Given the description of an element on the screen output the (x, y) to click on. 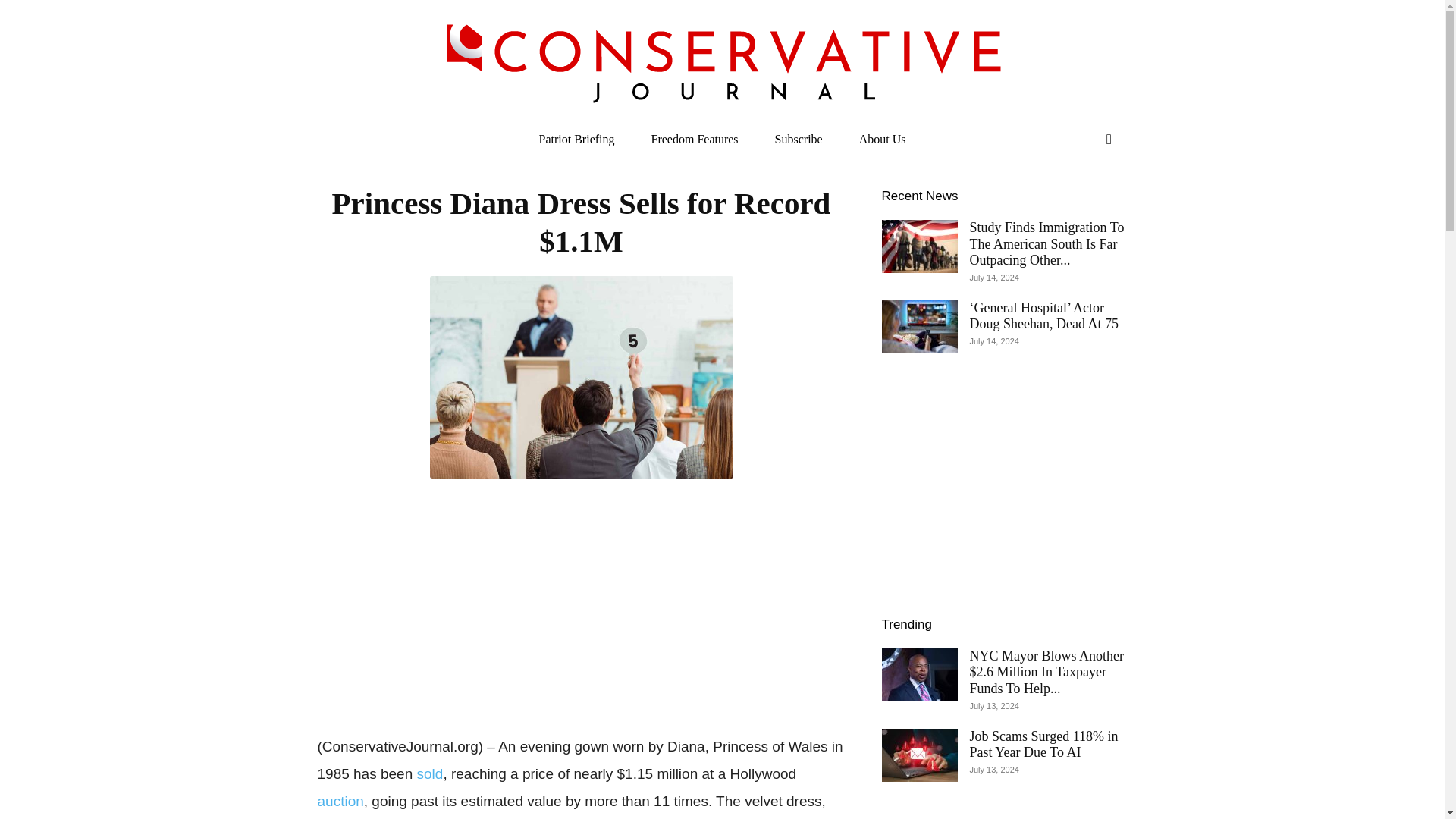
About Us (882, 139)
Search (1077, 200)
auction (339, 801)
sold (430, 773)
Advertisement (580, 603)
Patriot Briefing (577, 139)
Subscribe (799, 139)
Freedom Features (693, 139)
